Given the description of an element on the screen output the (x, y) to click on. 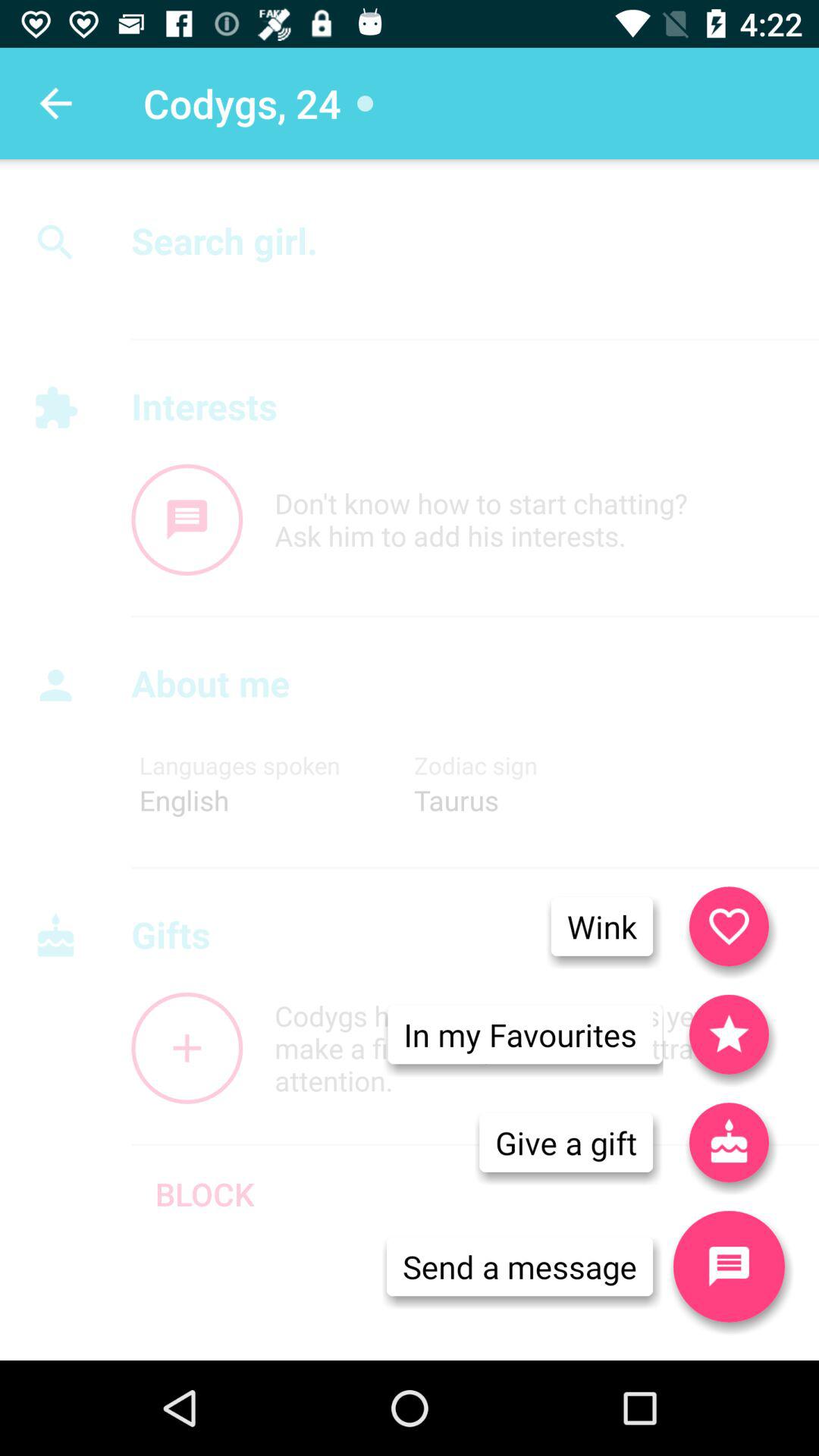
scroll to the in my favourites (520, 1034)
